Given the description of an element on the screen output the (x, y) to click on. 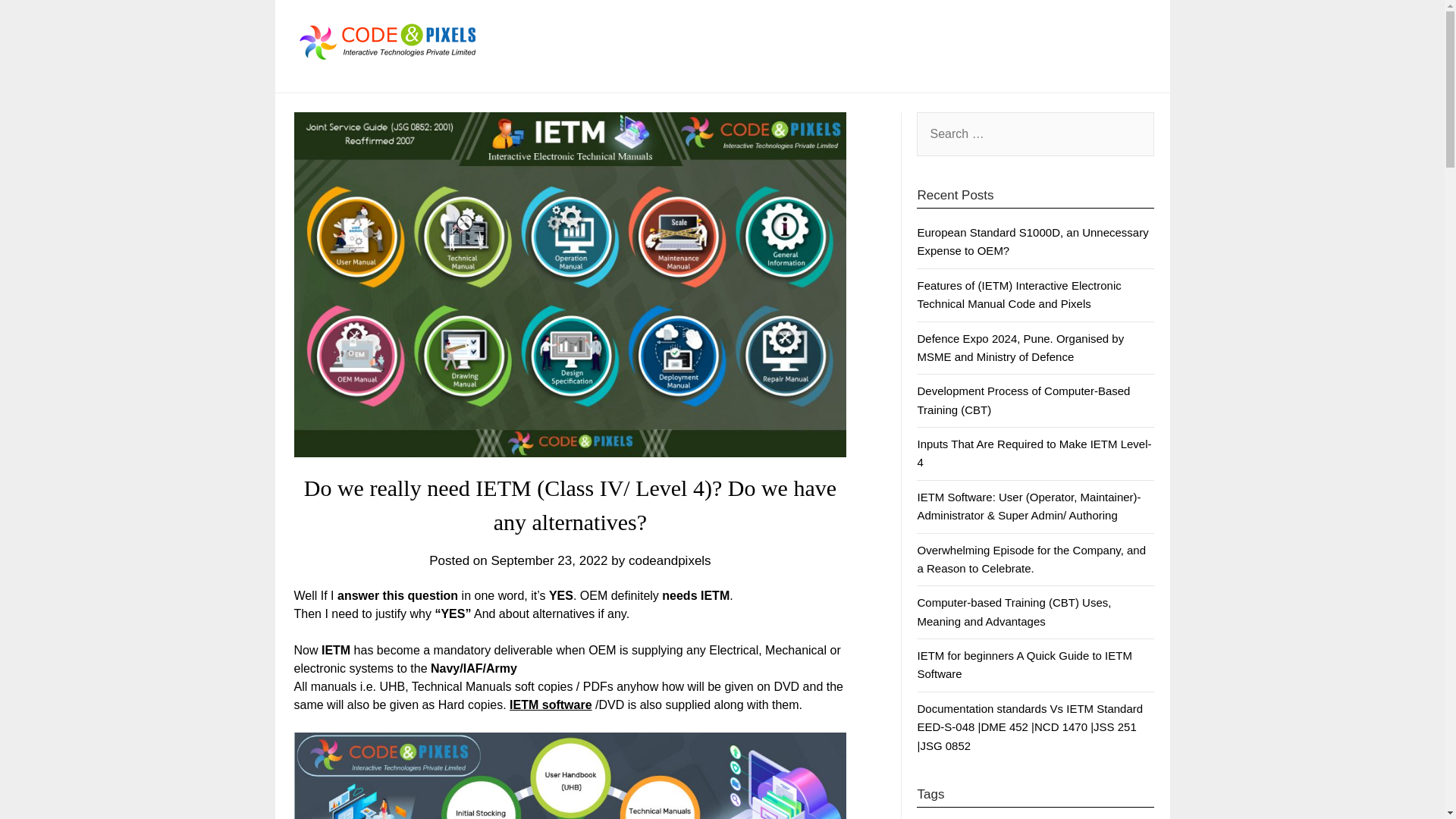
codeandpixels (669, 560)
Search (38, 22)
IETM software (550, 704)
September 23, 2022 (548, 560)
European Standard S1000D, an Unnecessary Expense to OEM? (1032, 241)
IETM for beginners A Quick Guide to IETM Software (1024, 664)
Inputs That Are Required to Make IETM Level-4 (1034, 452)
